Given the description of an element on the screen output the (x, y) to click on. 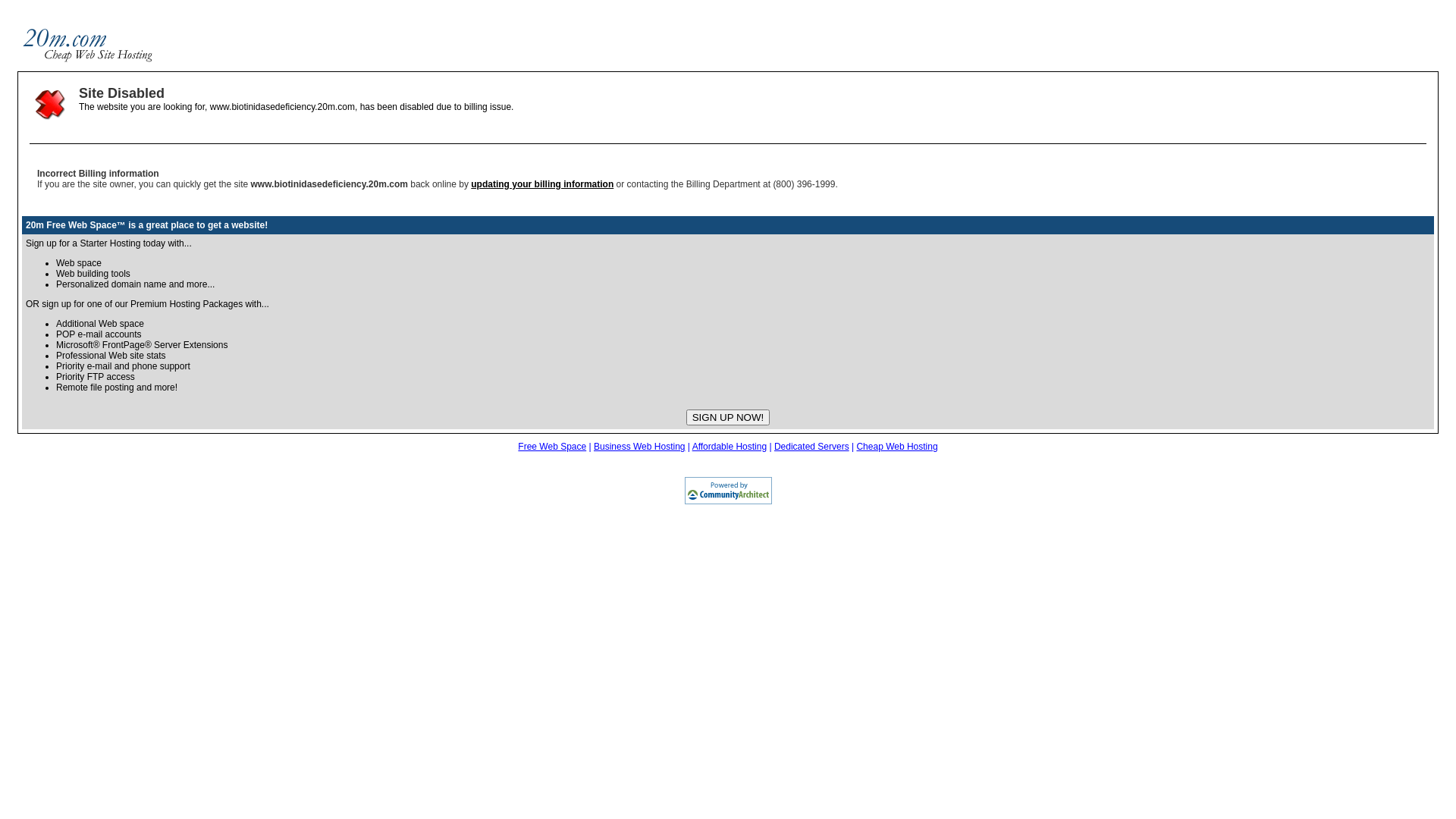
SIGN UP NOW! Element type: text (728, 417)
Cheap Web Hosting Element type: text (896, 446)
Free Web Space Element type: text (551, 446)
Business Web Hosting Element type: text (639, 446)
Affordable Hosting Element type: text (729, 446)
updating your billing information Element type: text (541, 183)
Dedicated Servers Element type: text (811, 446)
